Given the description of an element on the screen output the (x, y) to click on. 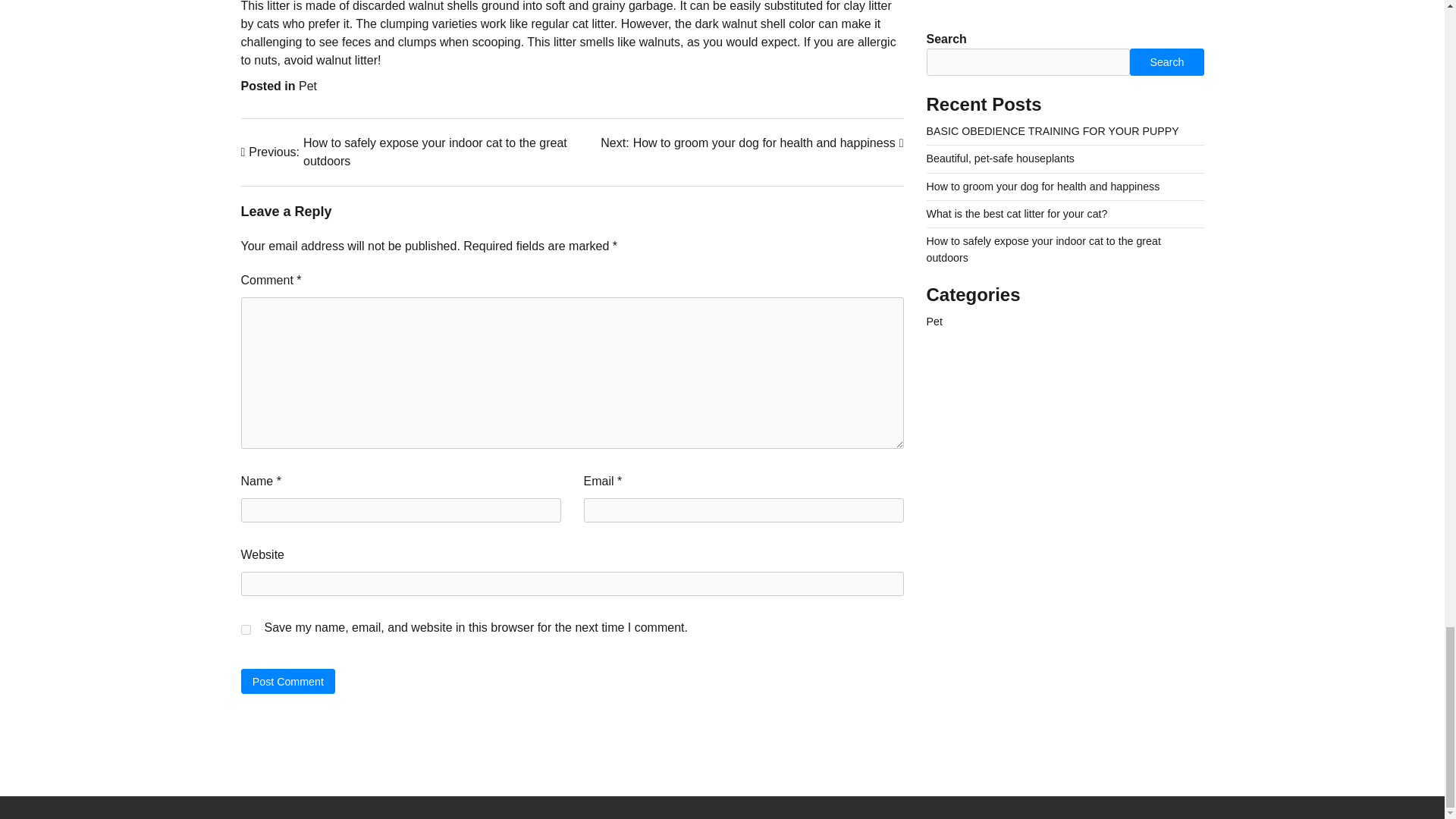
Post Comment (750, 143)
yes (288, 681)
Pet (245, 629)
Post Comment (307, 85)
